Given the description of an element on the screen output the (x, y) to click on. 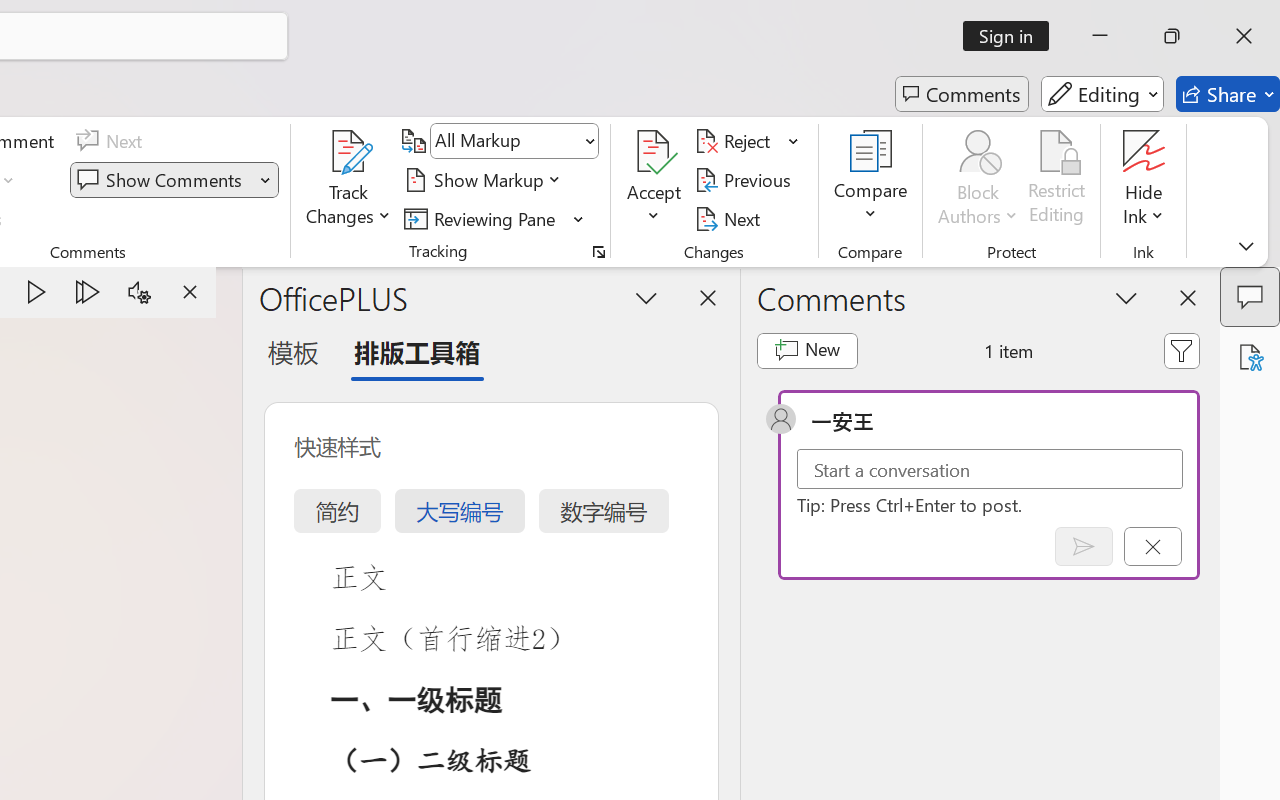
New comment (806, 350)
Reviewing Pane (494, 218)
Reviewing Pane (483, 218)
Hide Ink (1144, 151)
Start a conversation (990, 468)
Change Tracking Options... (598, 252)
Hide Ink (1144, 179)
Track Changes (349, 151)
Previous (745, 179)
Editing (1101, 94)
